Given the description of an element on the screen output the (x, y) to click on. 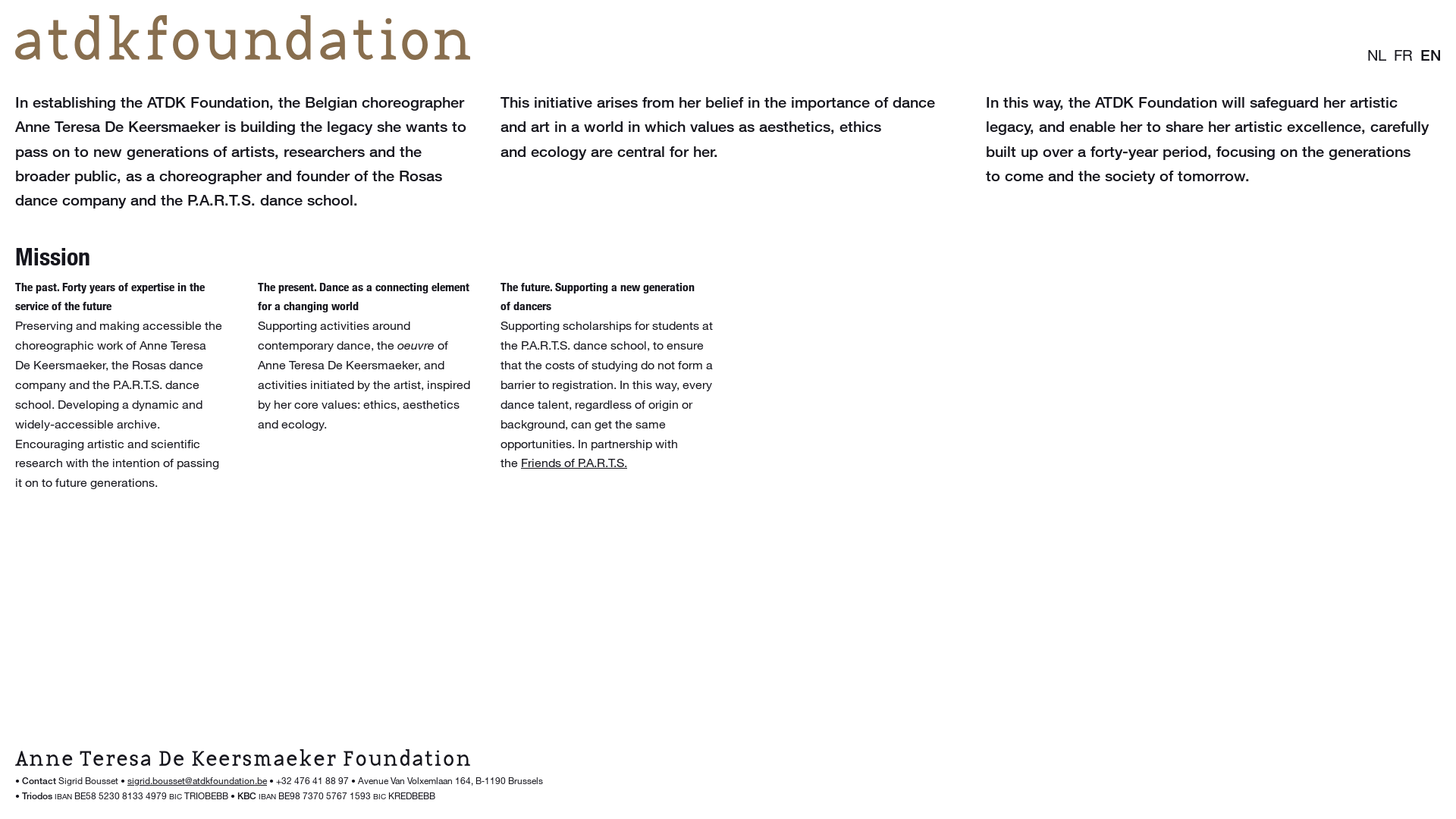
Friends of P.A.R.T.S. Element type: text (573, 462)
NL Element type: text (1376, 55)
EN Element type: text (1430, 55)
FR Element type: text (1402, 55)
sigrid.bousset@atdkfoundation.be Element type: text (196, 780)
